Given the description of an element on the screen output the (x, y) to click on. 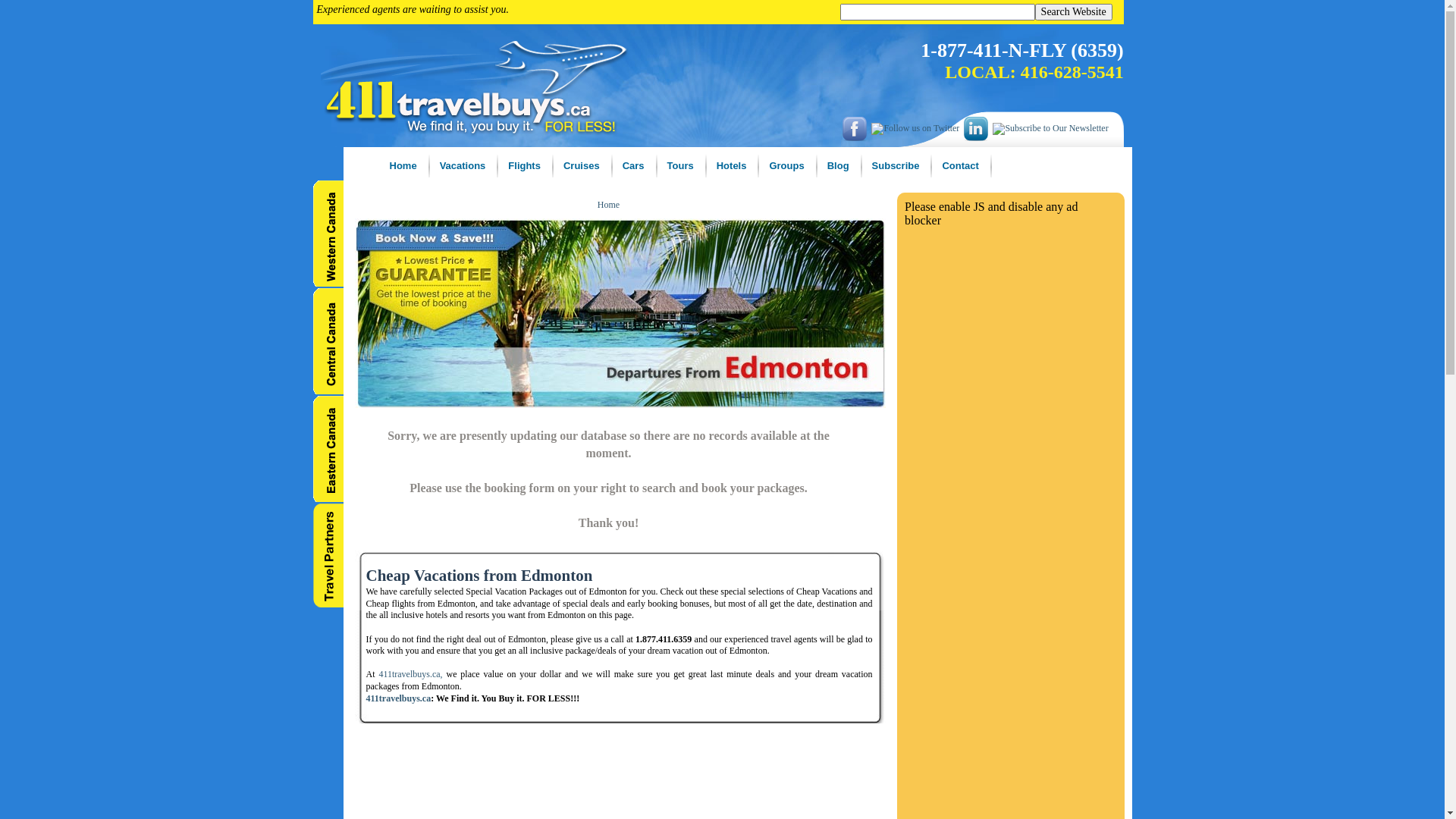
Cruises Element type: text (582, 165)
411travelbuys.ca, Element type: text (410, 673)
Subscribe to Our Newsletter Element type: hover (1049, 128)
Groups Element type: text (786, 165)
Cheap Vacation Deals Element type: hover (619, 312)
Follow us on Twitter Element type: hover (917, 128)
Tours Element type: text (680, 165)
Like us on facebook Element type: hover (856, 128)
Vacations Element type: text (463, 165)
Search Website Element type: text (1073, 11)
Contact Element type: text (960, 165)
Home Element type: text (365, 190)
Subscribe Element type: text (896, 165)
Blog Element type: text (838, 165)
411travelbuys.ca Element type: text (397, 698)
Home Element type: text (403, 165)
Hotels Element type: text (732, 165)
Home Element type: text (608, 204)
LinkedIn Element type: hover (977, 128)
Flights Element type: text (524, 165)
Cars Element type: text (634, 165)
